Given the description of an element on the screen output the (x, y) to click on. 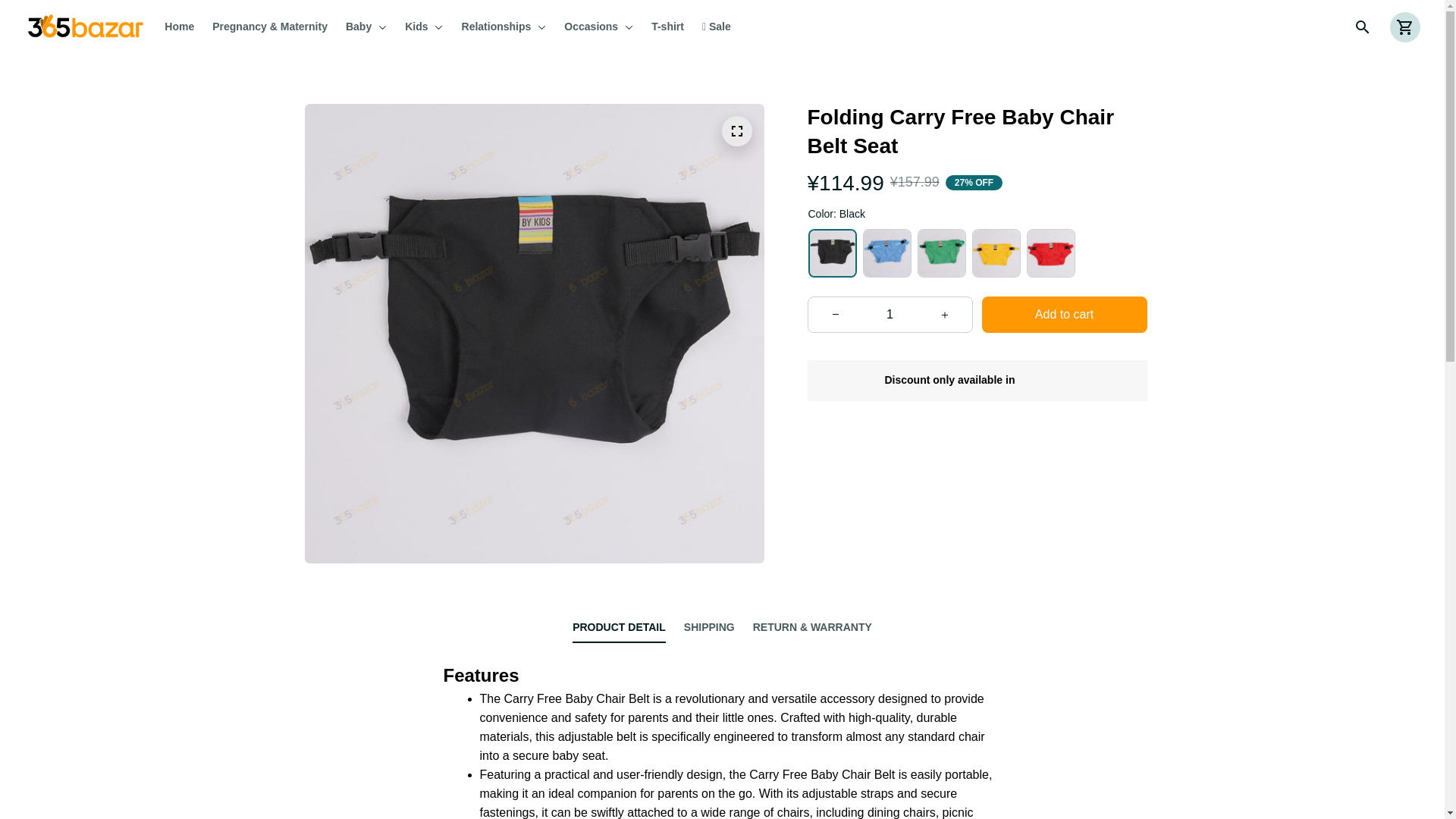
Kids (423, 27)
PRODUCT DETAIL (618, 627)
1 (890, 314)
Home (183, 27)
Occasions (598, 27)
Baby (366, 27)
T-shirt (667, 27)
SHIPPING (709, 627)
